Given the description of an element on the screen output the (x, y) to click on. 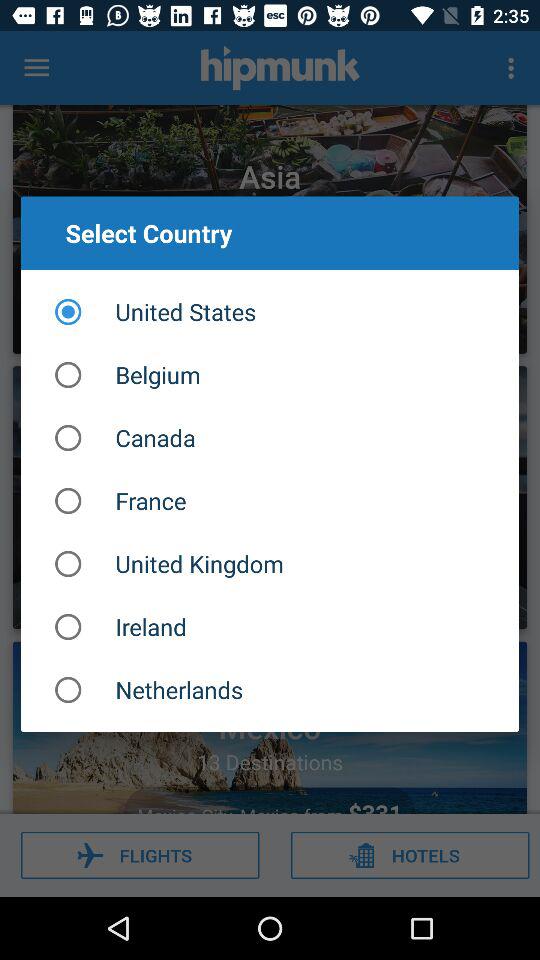
select the item above the canada item (270, 374)
